Given the description of an element on the screen output the (x, y) to click on. 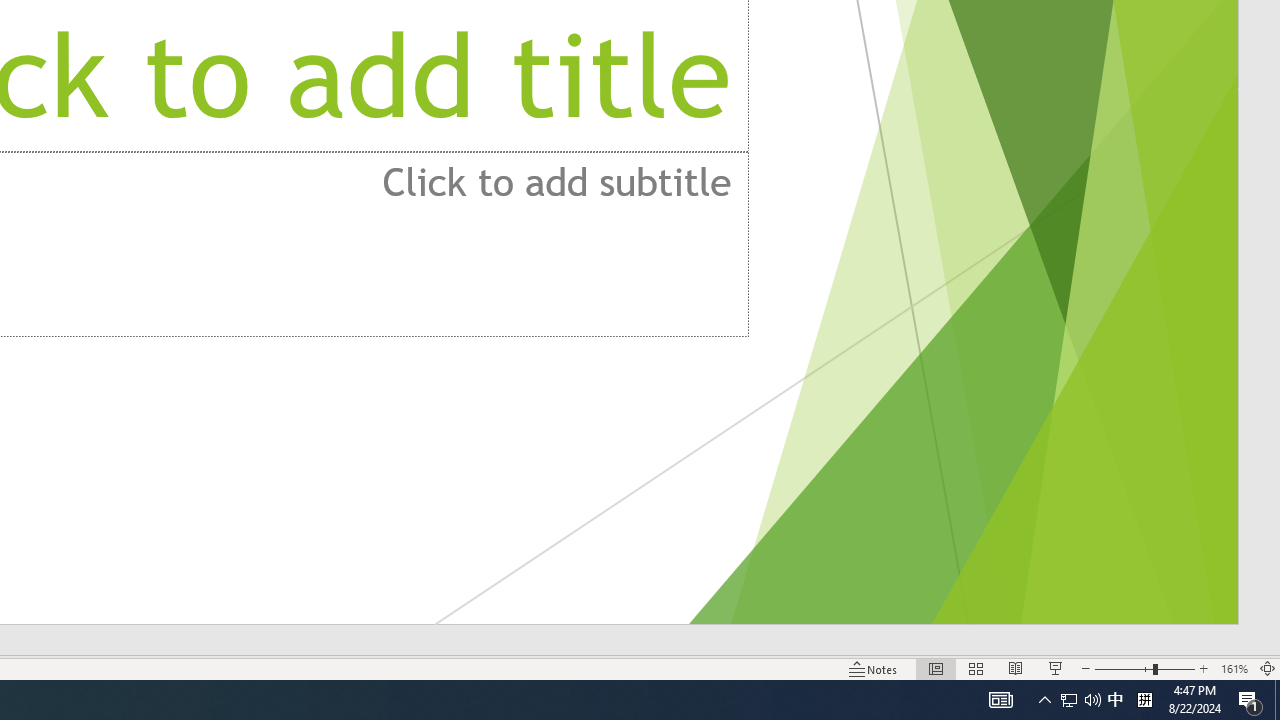
Zoom 161% (1234, 668)
